Given the description of an element on the screen output the (x, y) to click on. 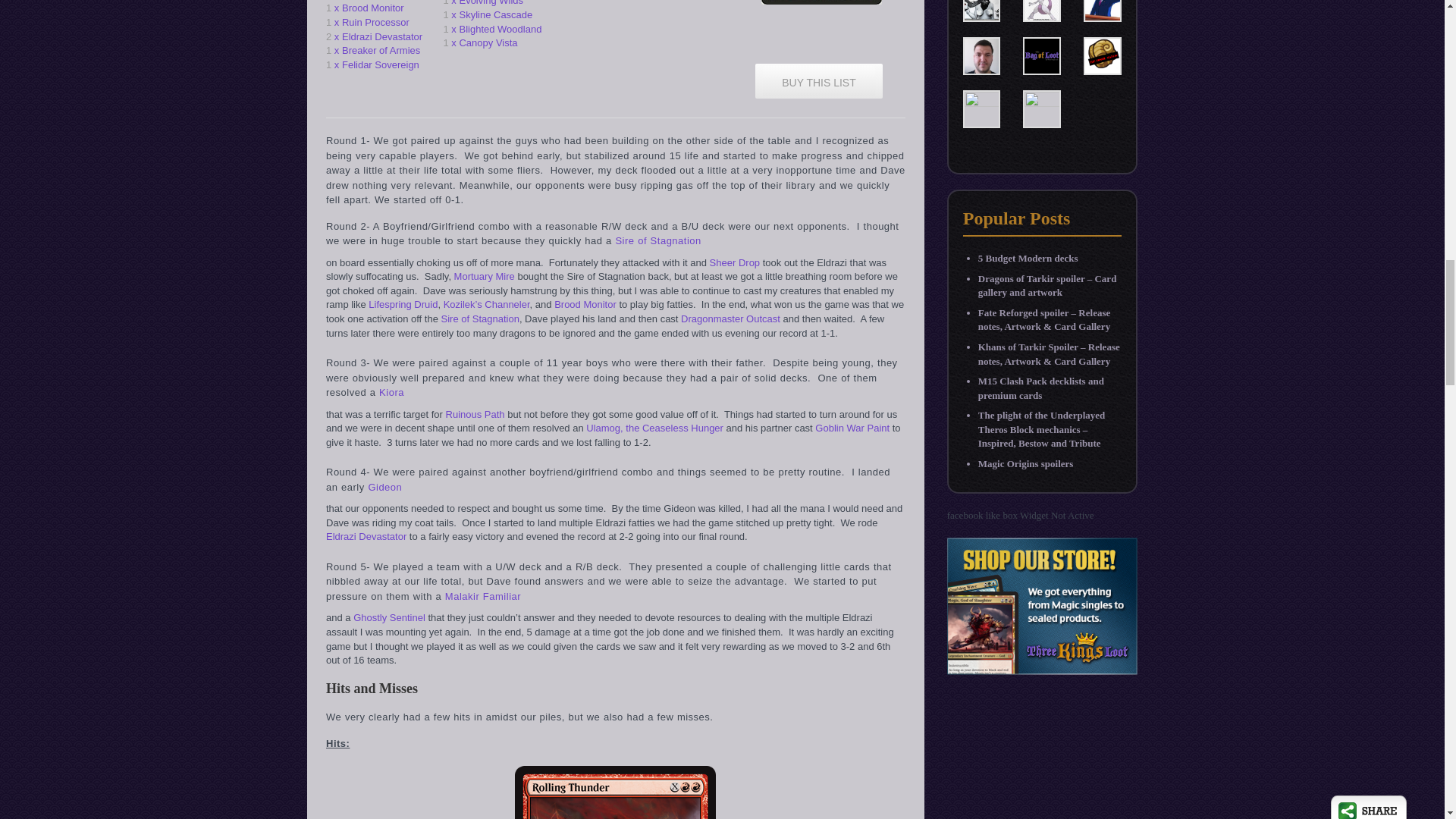
1 x Brood Monitor (377, 8)
Norman Fried (981, 4)
1 x Breaker of Armies (377, 51)
2 x Eldrazi Devastator (377, 37)
1 x Felidar Sovereign (377, 65)
1 x Ghostly Sentinel (377, 1)
1 x Ruin Processor (377, 22)
